Given the description of an element on the screen output the (x, y) to click on. 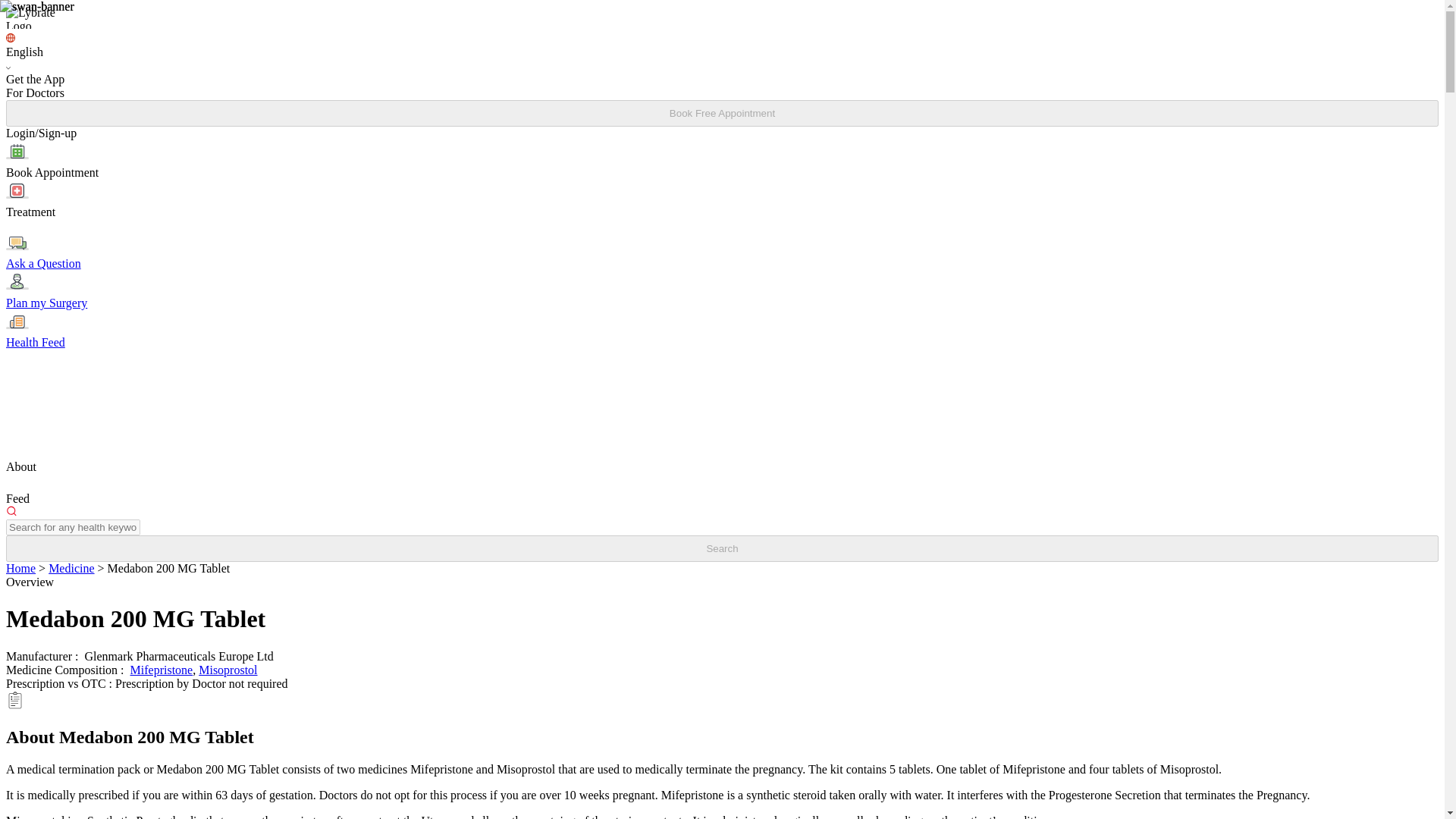
Home (19, 567)
Medicine (71, 567)
Misoprostol (227, 669)
Mifepristone (162, 669)
